Given the description of an element on the screen output the (x, y) to click on. 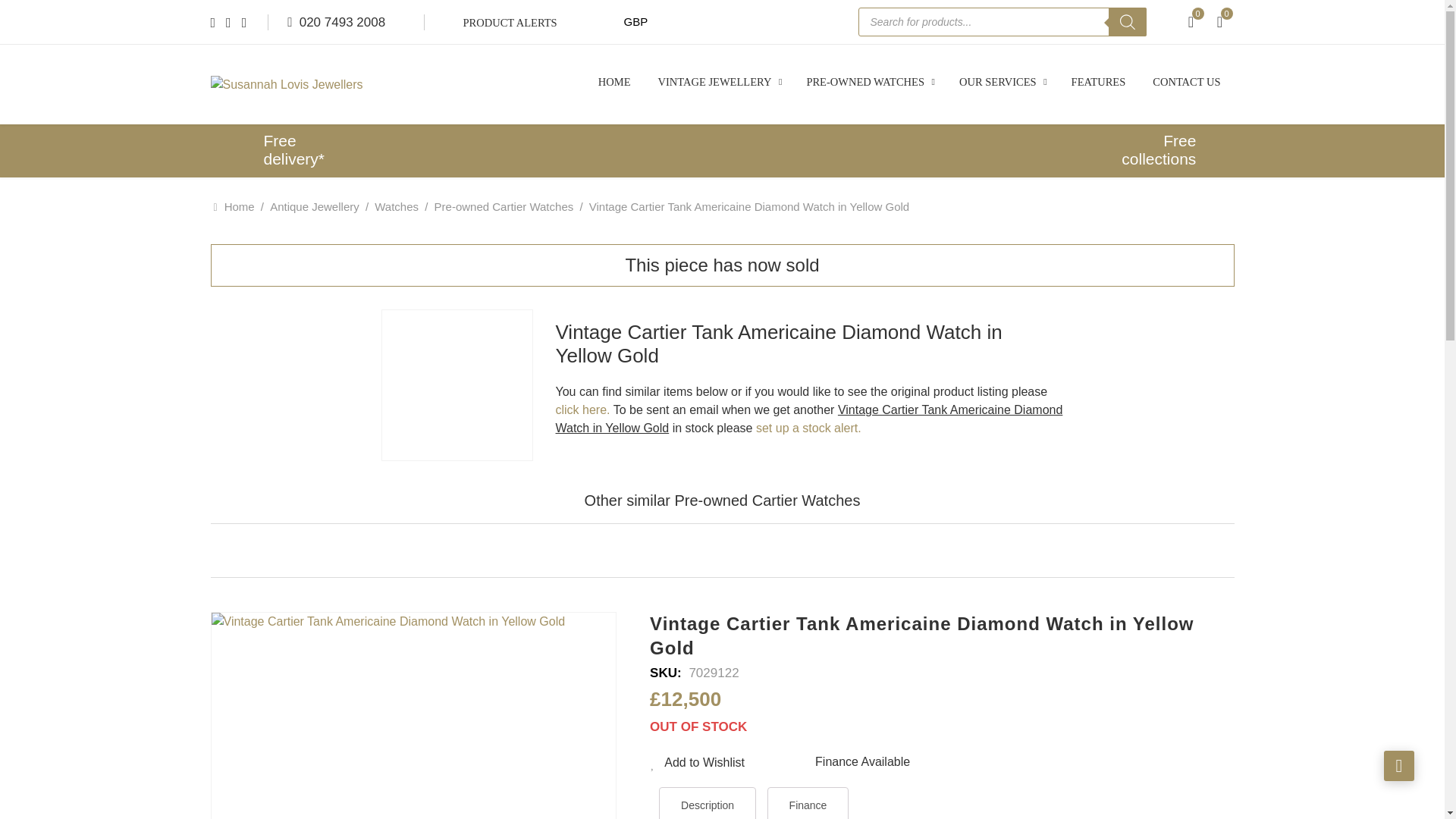
VINTAGE JEWELLERY (719, 81)
Vintage Cartier Tank Americaine Diamond Watch in Yellow Gold (413, 715)
Vintage Cartier Tank Americaine Diamond Watch in Yellow Gold (456, 385)
 020 7493 2008 (335, 22)
